Given the description of an element on the screen output the (x, y) to click on. 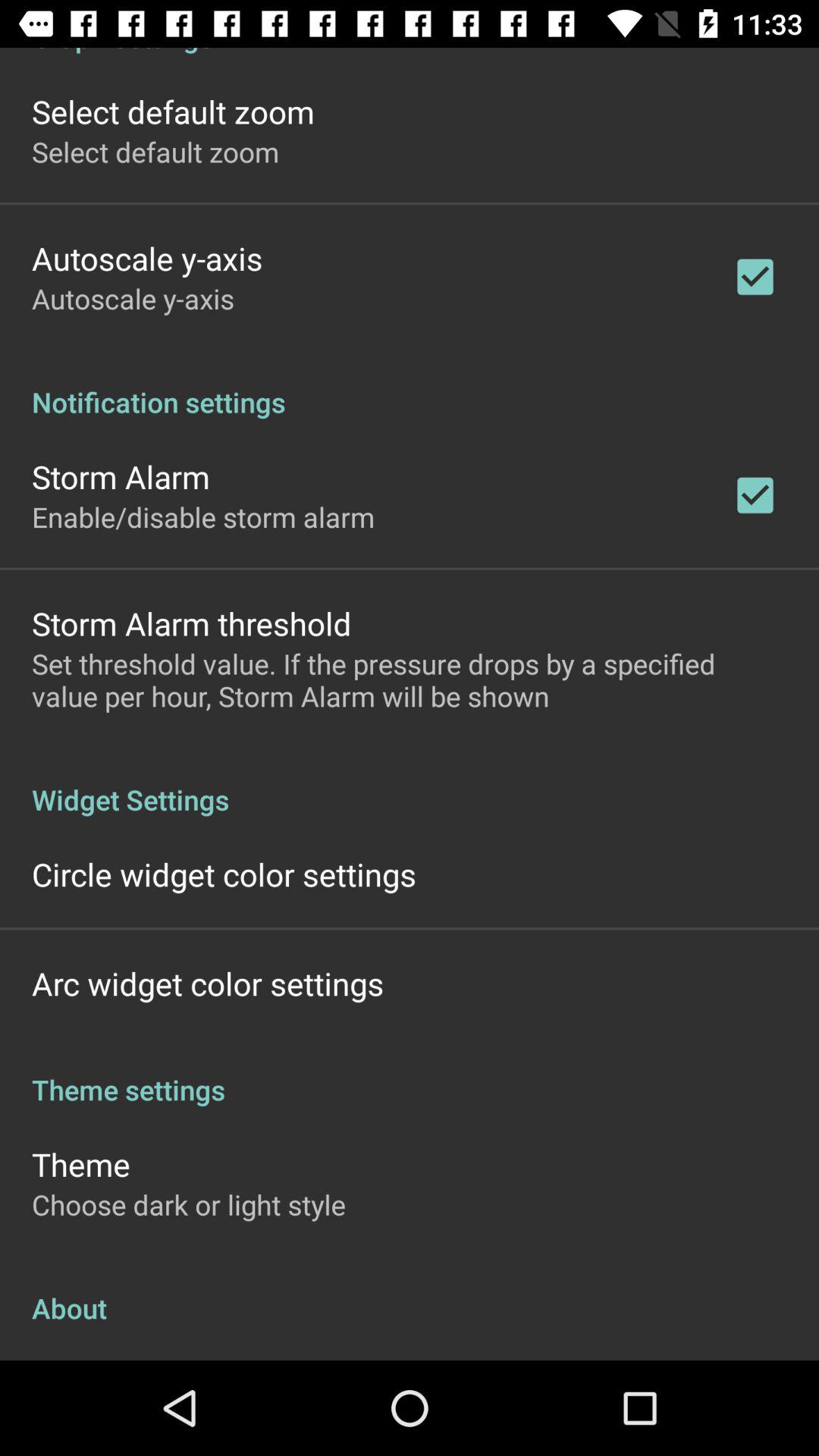
tap the about item (409, 1291)
